Given the description of an element on the screen output the (x, y) to click on. 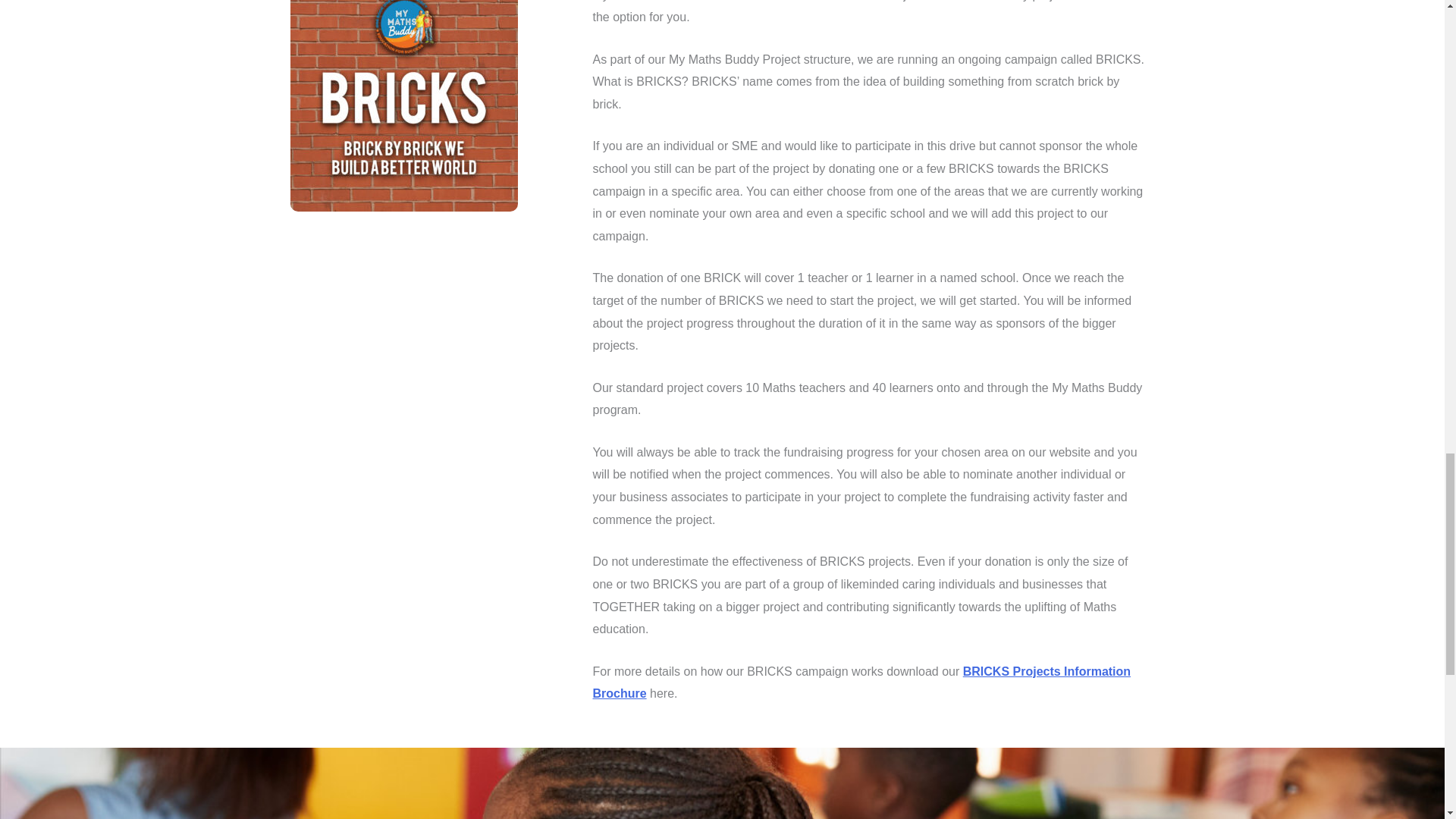
BRICKS Projects Information Brochure (861, 683)
